Given the description of an element on the screen output the (x, y) to click on. 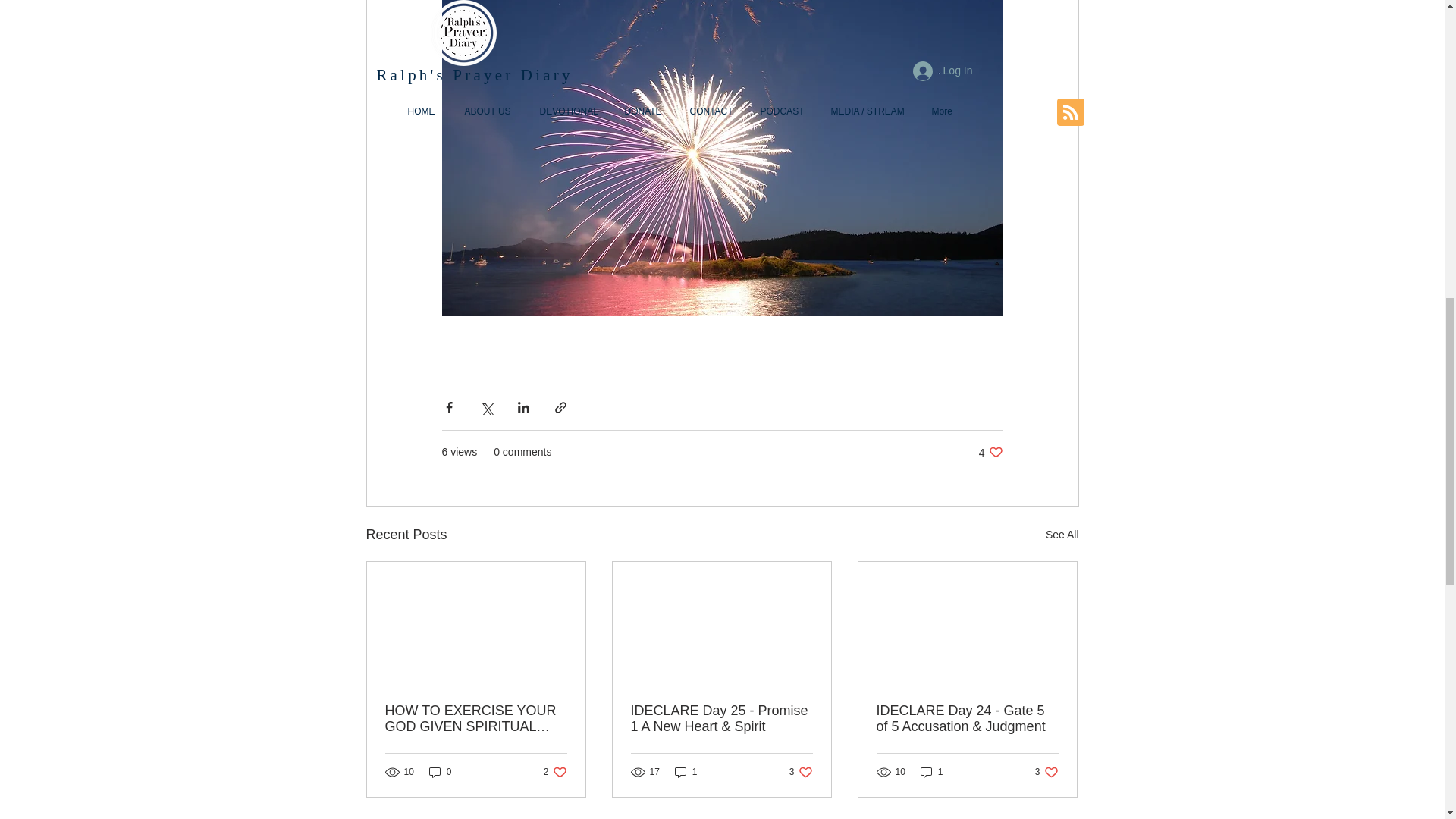
HOW TO EXERCISE YOUR GOD GIVEN SPIRITUAL AUTHORITY (555, 771)
1 (476, 718)
0 (931, 771)
See All (440, 771)
1 (990, 452)
